Given the description of an element on the screen output the (x, y) to click on. 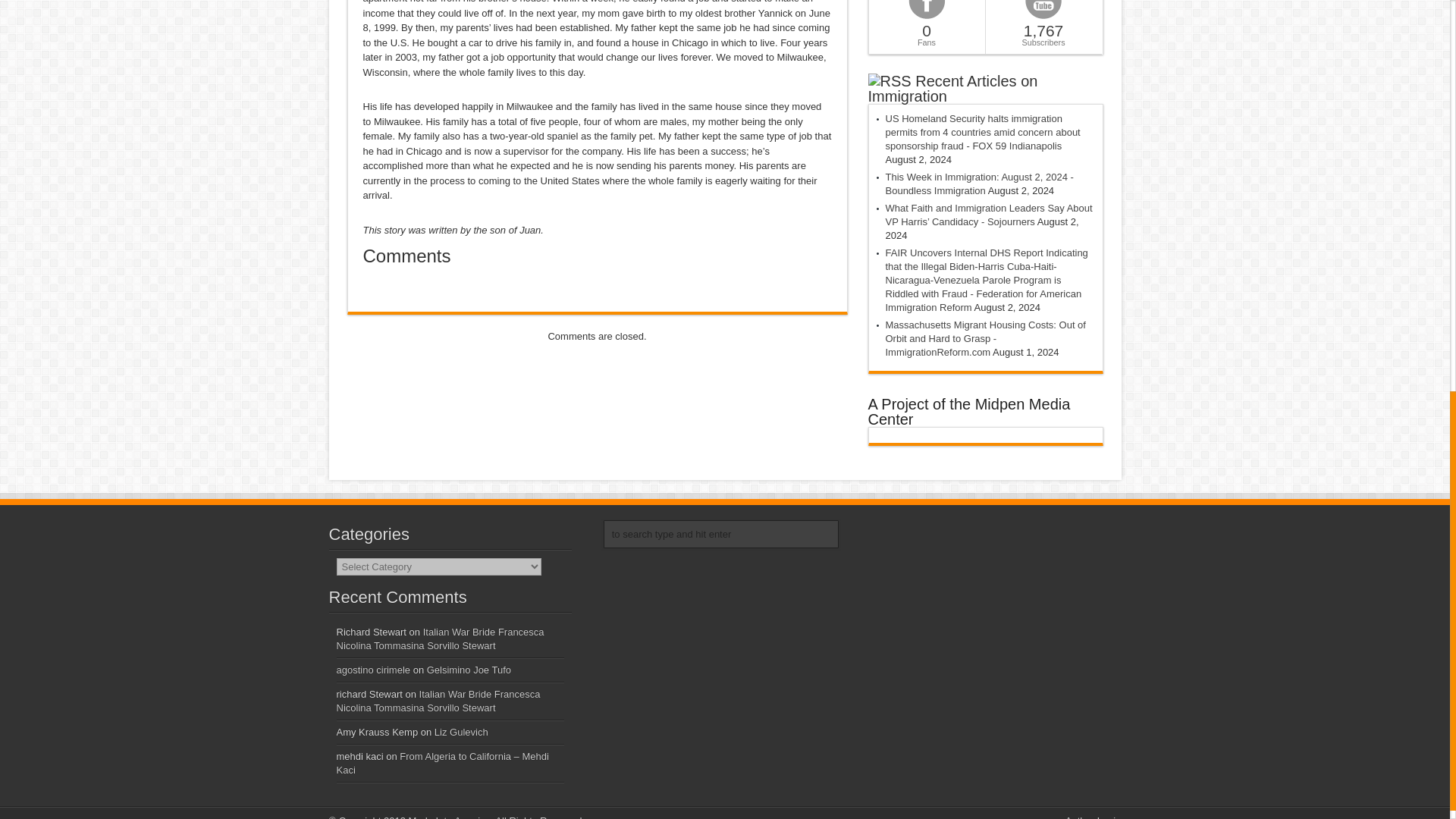
to search type and hit enter (721, 533)
